Given the description of an element on the screen output the (x, y) to click on. 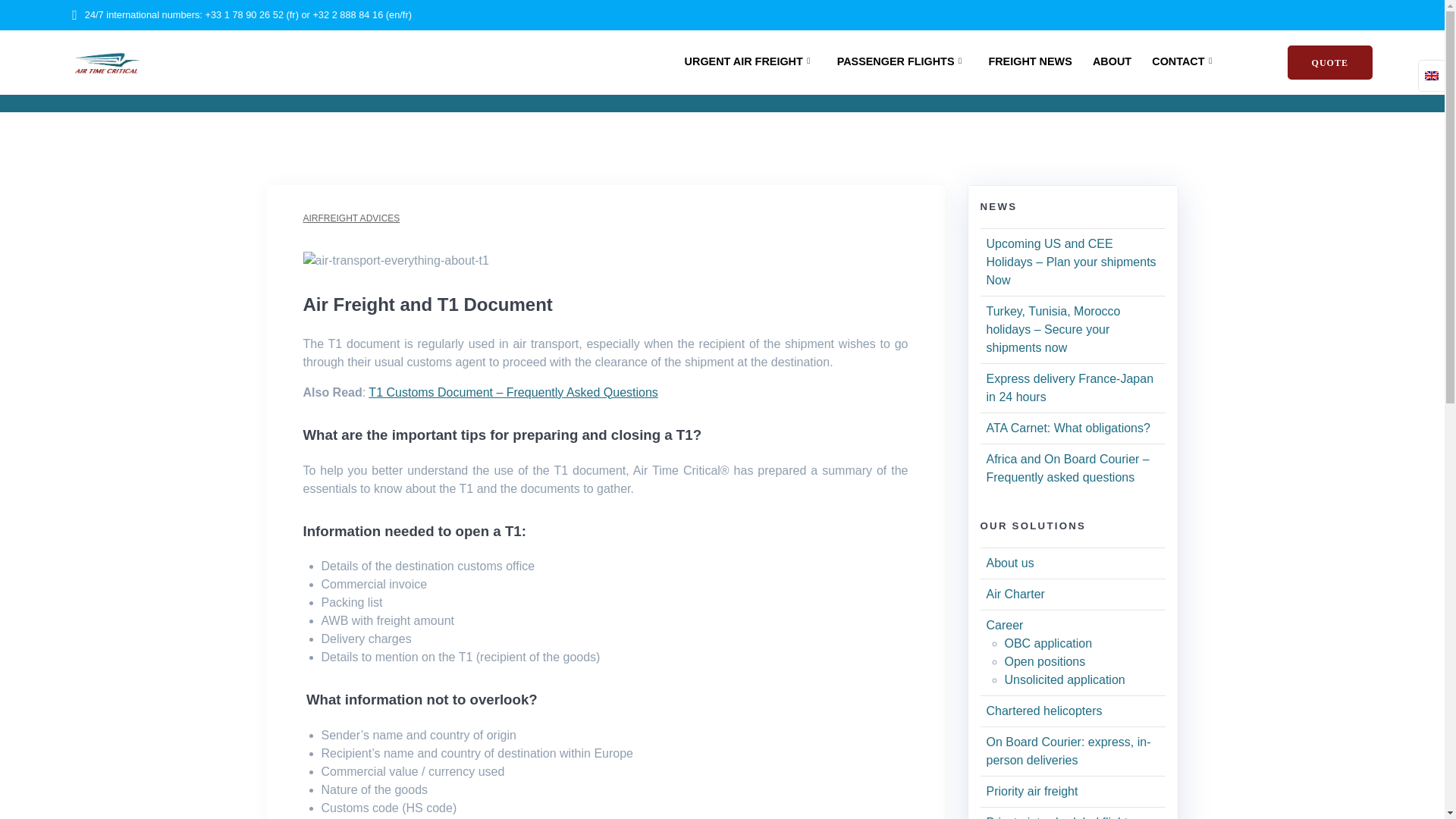
FREIGHT NEWS (1029, 62)
CONTACT (1184, 62)
ABOUT (1112, 62)
URGENT AIR FREIGHT (750, 62)
English (1431, 75)
PASSENGER FLIGHTS (902, 62)
